Given the description of an element on the screen output the (x, y) to click on. 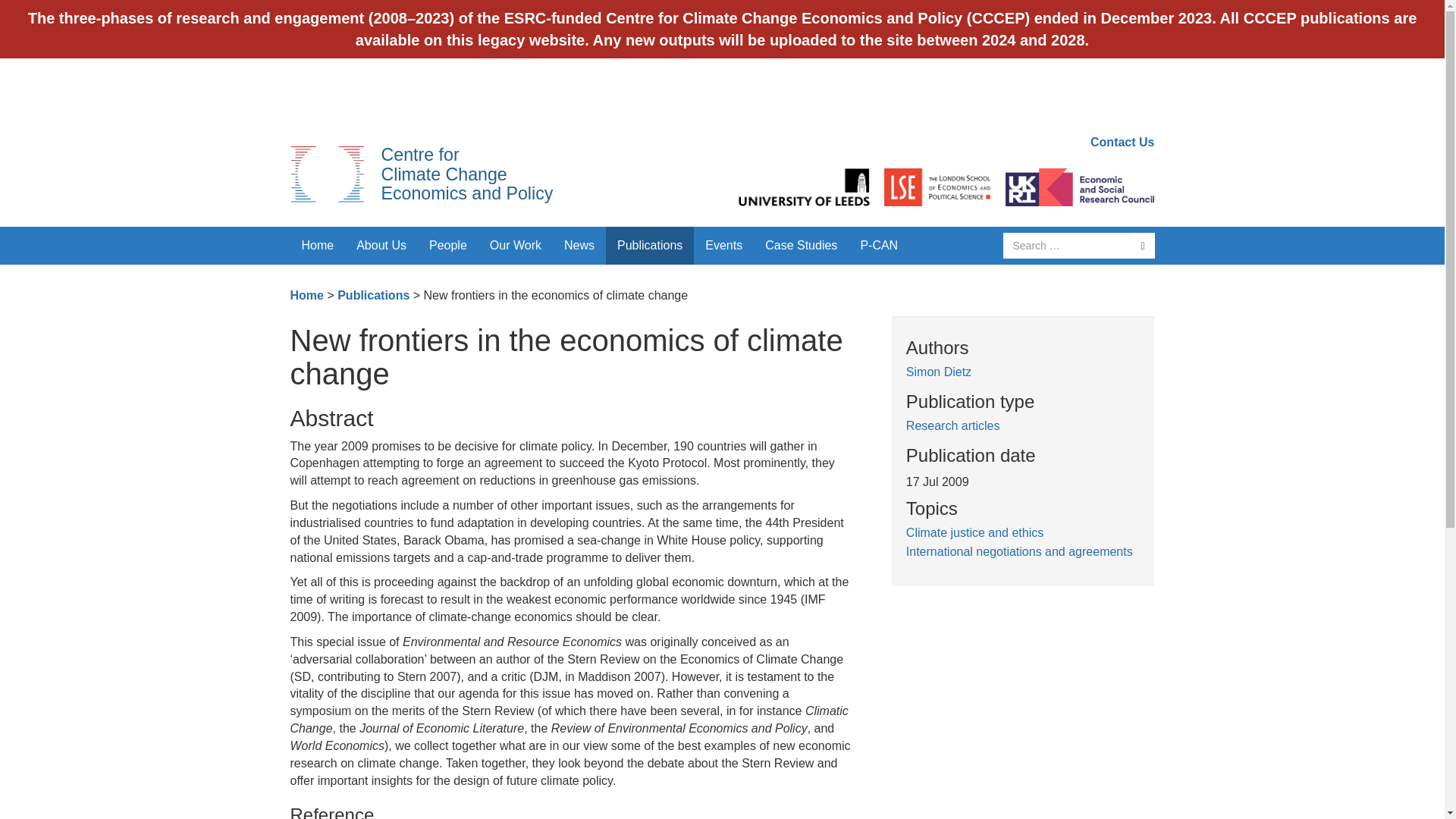
Simon Dietz (938, 371)
About Us (381, 245)
Home (317, 245)
Case Studies (801, 245)
P-CAN (878, 245)
People (448, 245)
Publications (373, 295)
Climate justice and ethics (974, 532)
Events (724, 245)
P-CAN (878, 245)
